Given the description of an element on the screen output the (x, y) to click on. 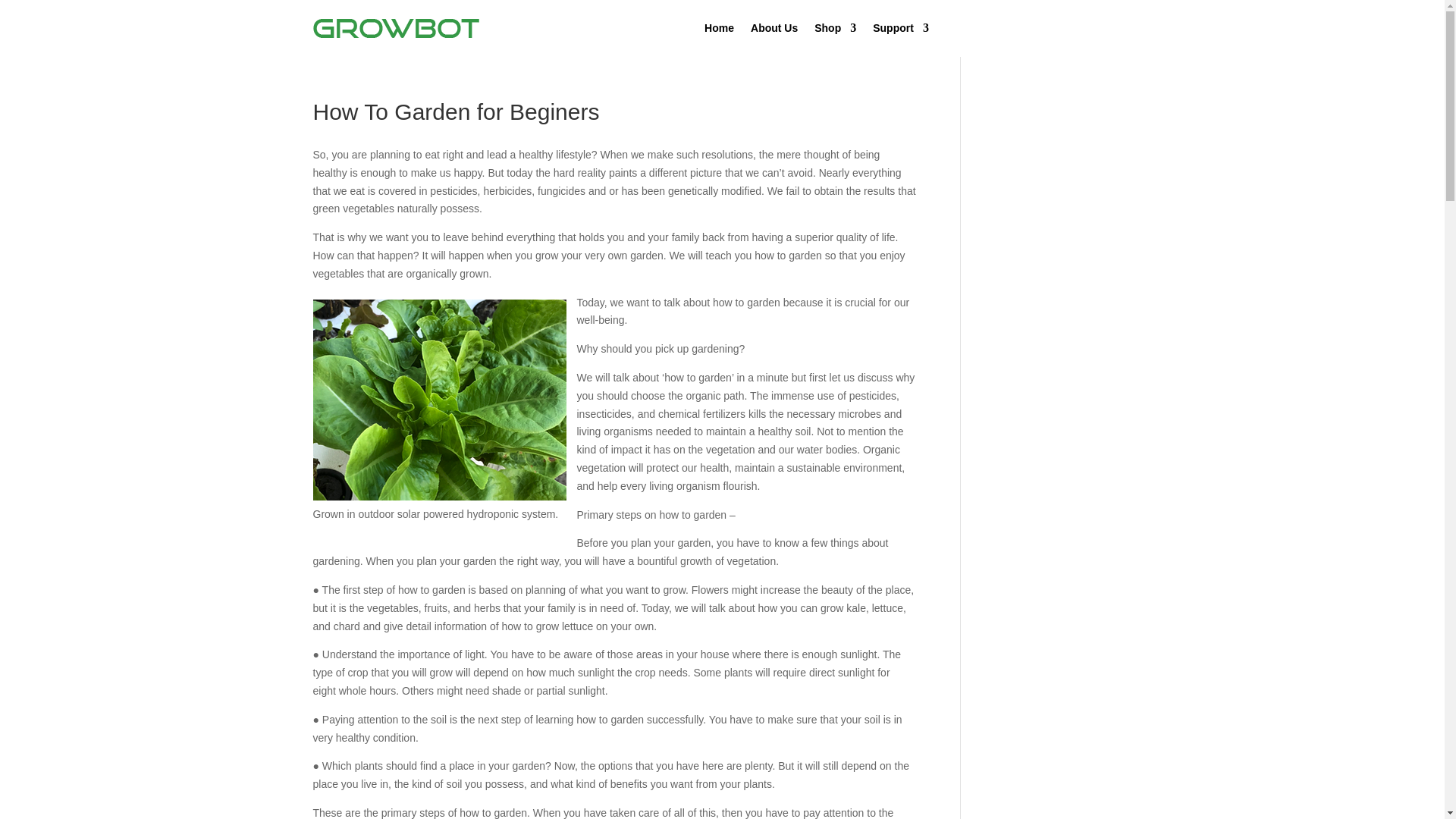
Support (900, 28)
